Given the description of an element on the screen output the (x, y) to click on. 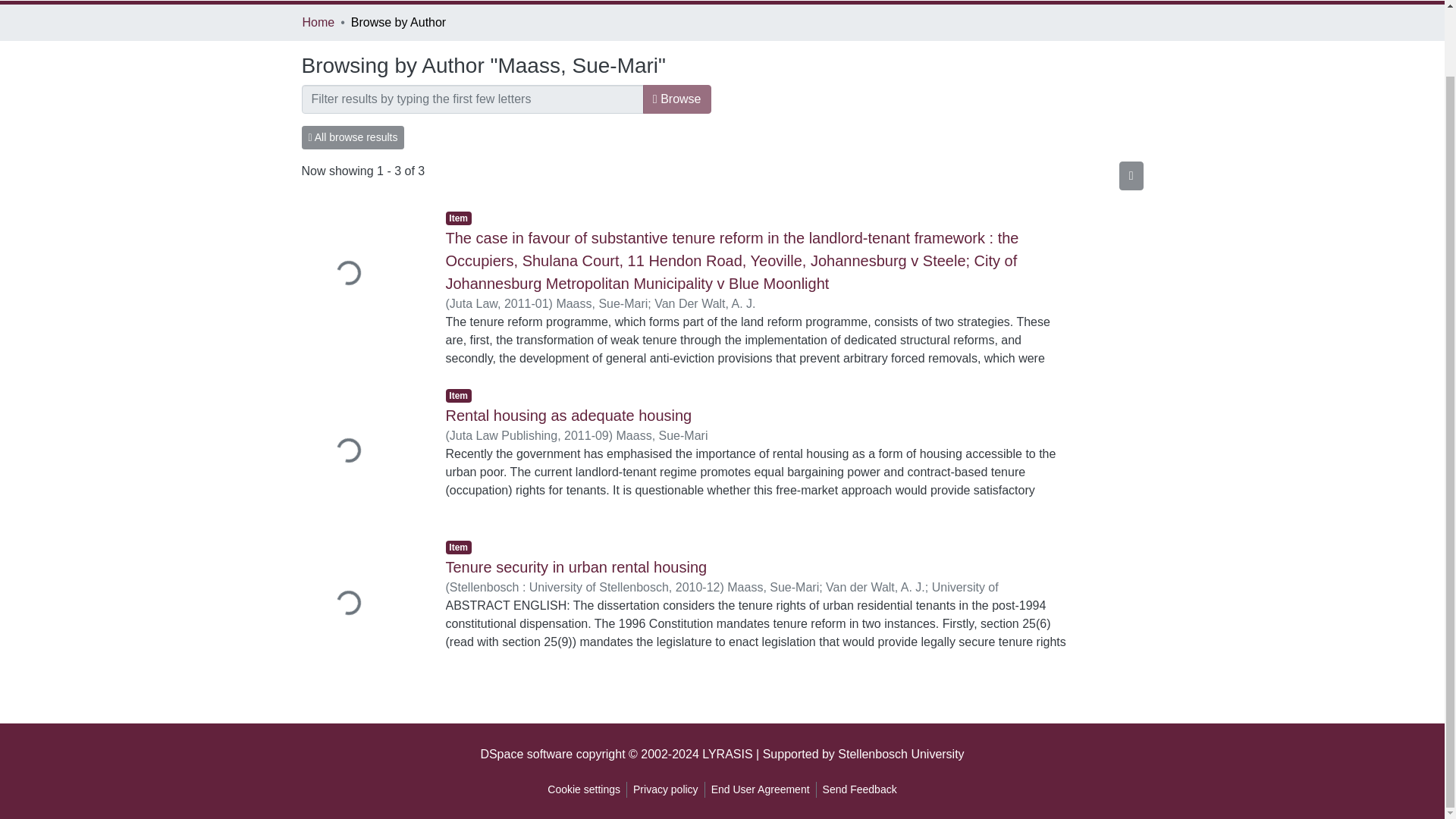
Rental housing as adequate housing (569, 415)
Loading... (362, 604)
Browse (677, 99)
All browse results (352, 137)
Loading... (362, 275)
Home (317, 22)
Loading... (362, 452)
